Given the description of an element on the screen output the (x, y) to click on. 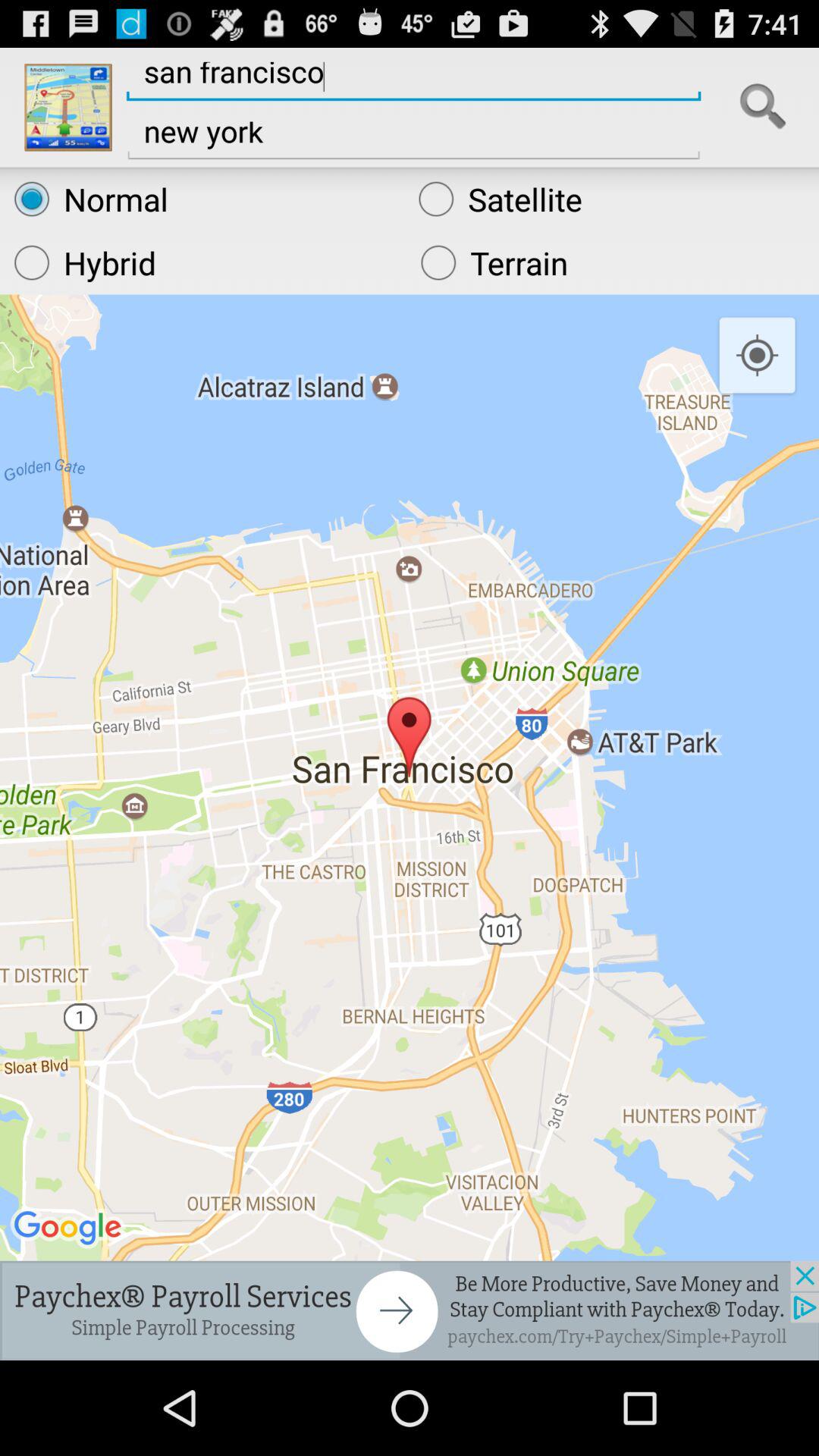
search (763, 107)
